Given the description of an element on the screen output the (x, y) to click on. 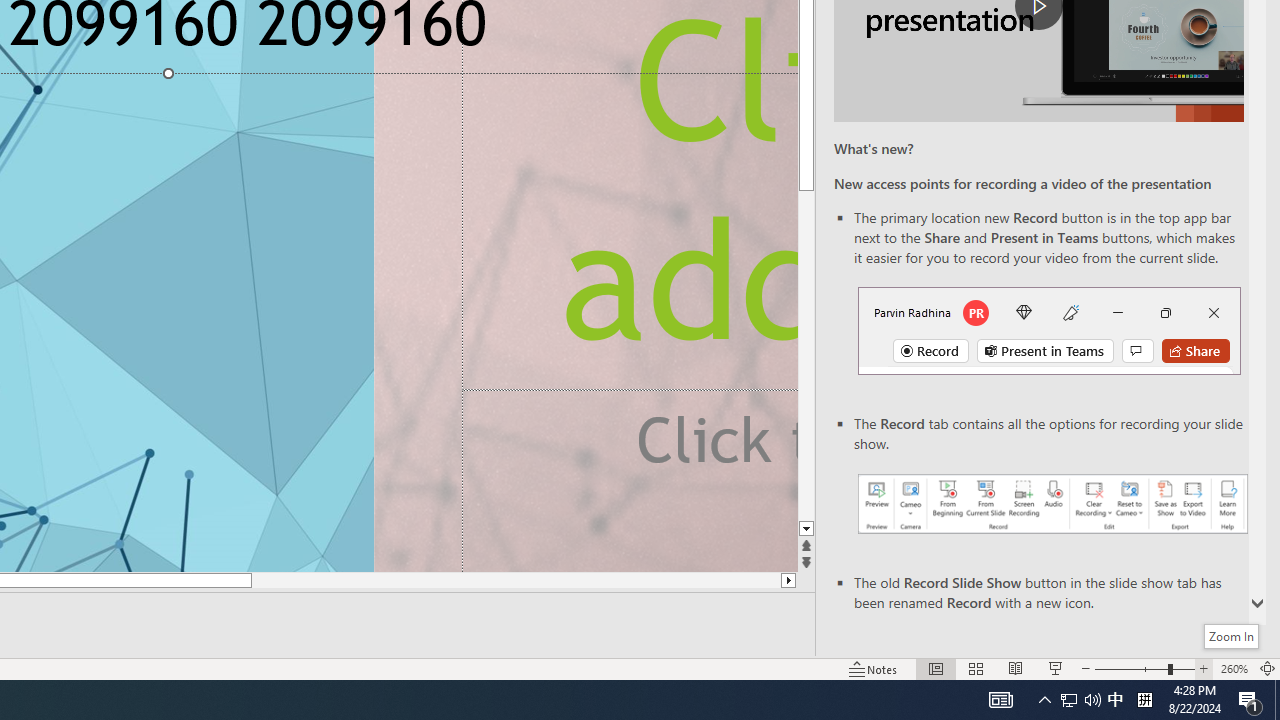
Line down (806, 529)
Record button in top bar (1049, 331)
Normal (936, 668)
Slide Sorter (975, 668)
Zoom Out (1130, 668)
Reading View (1015, 668)
Zoom 260% (1234, 668)
Record your presentations screenshot one (1052, 503)
Page down (806, 357)
Notes  (874, 668)
Zoom (1144, 668)
Zoom In (1231, 636)
Subtitle TextBox (629, 479)
